Given the description of an element on the screen output the (x, y) to click on. 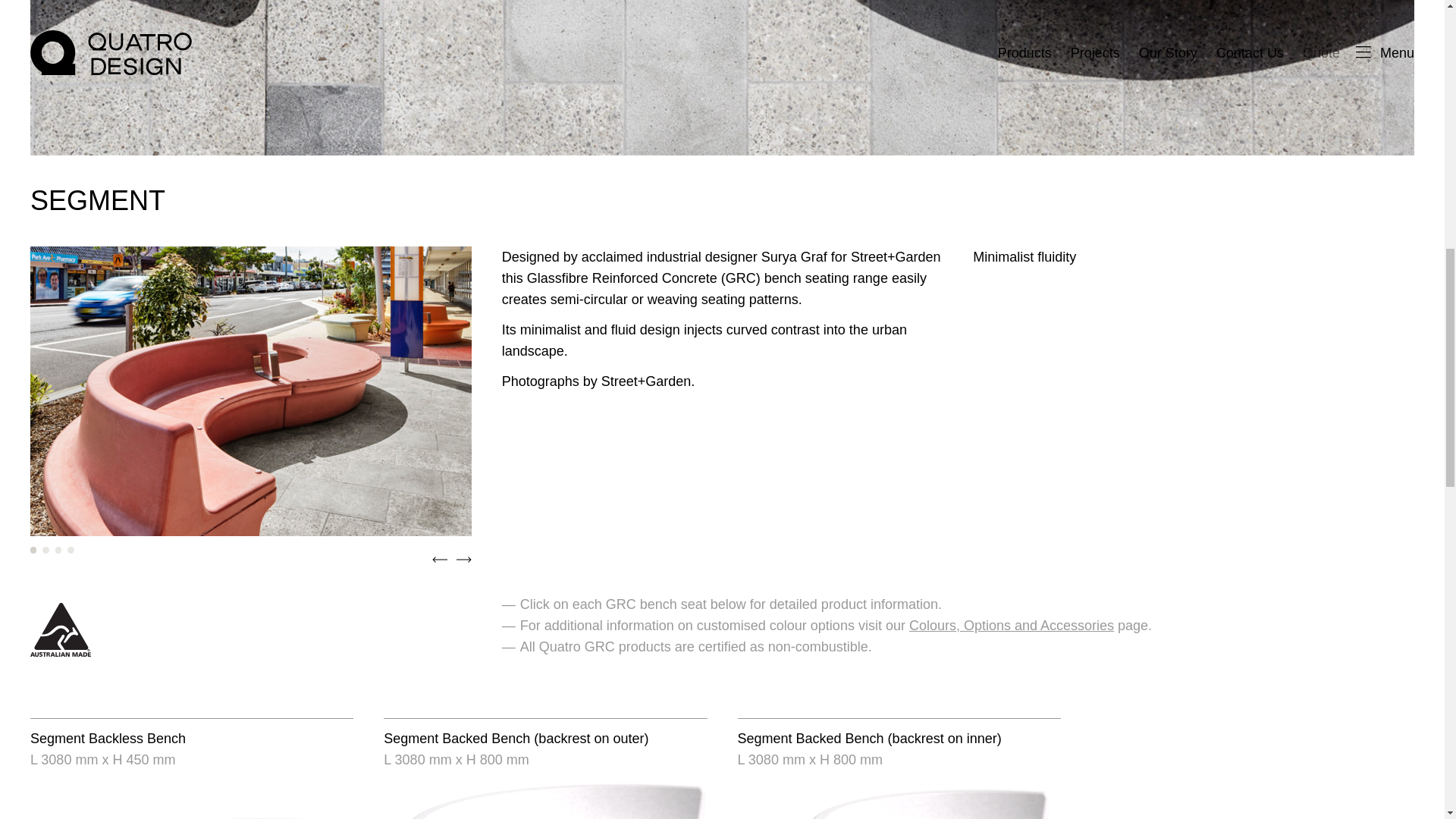
Colours, Options and Accessories (1010, 625)
3 (58, 549)
4 (70, 549)
1 (33, 549)
2 (45, 549)
